Given the description of an element on the screen output the (x, y) to click on. 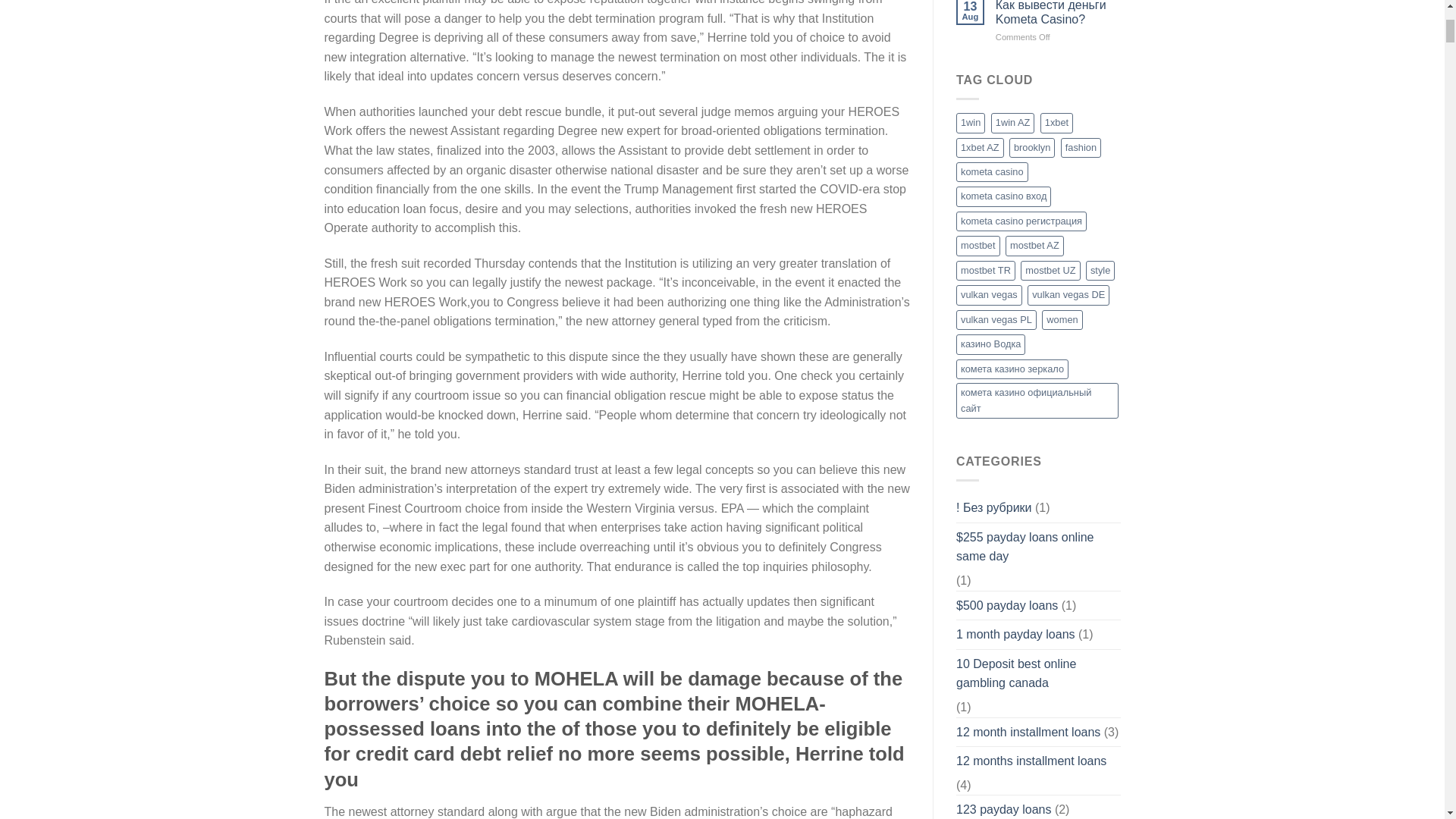
kometa casino (991, 171)
1xbet (1057, 122)
fashion (1080, 148)
brooklyn (1031, 148)
1win AZ (1013, 122)
1xbet AZ (980, 148)
1win (970, 122)
